Given the description of an element on the screen output the (x, y) to click on. 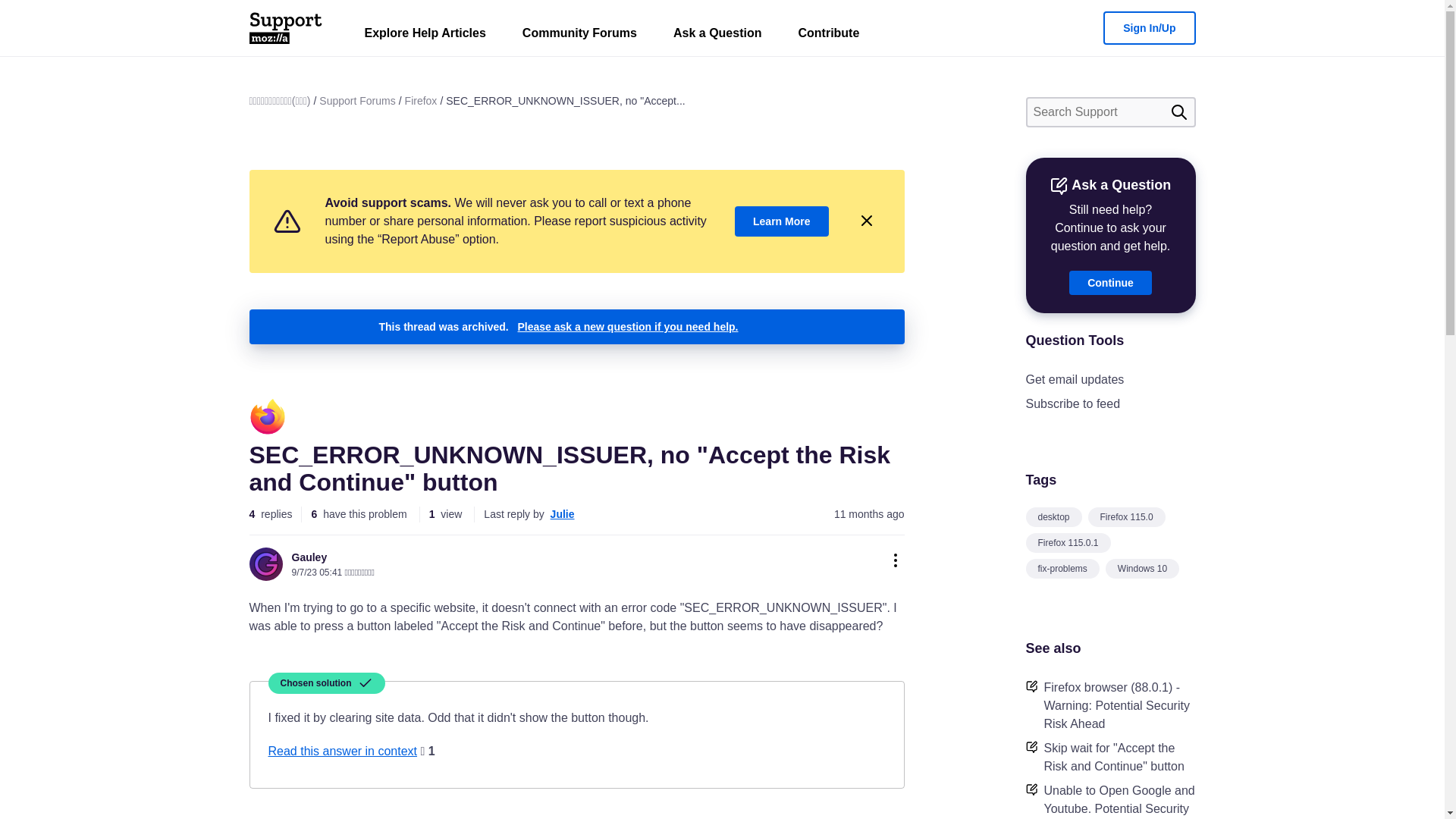
Community Forums (579, 37)
Solution chosen by Gauley (326, 682)
Ask a Question (716, 37)
Search (1178, 111)
Explore Help Articles (424, 37)
